Given the description of an element on the screen output the (x, y) to click on. 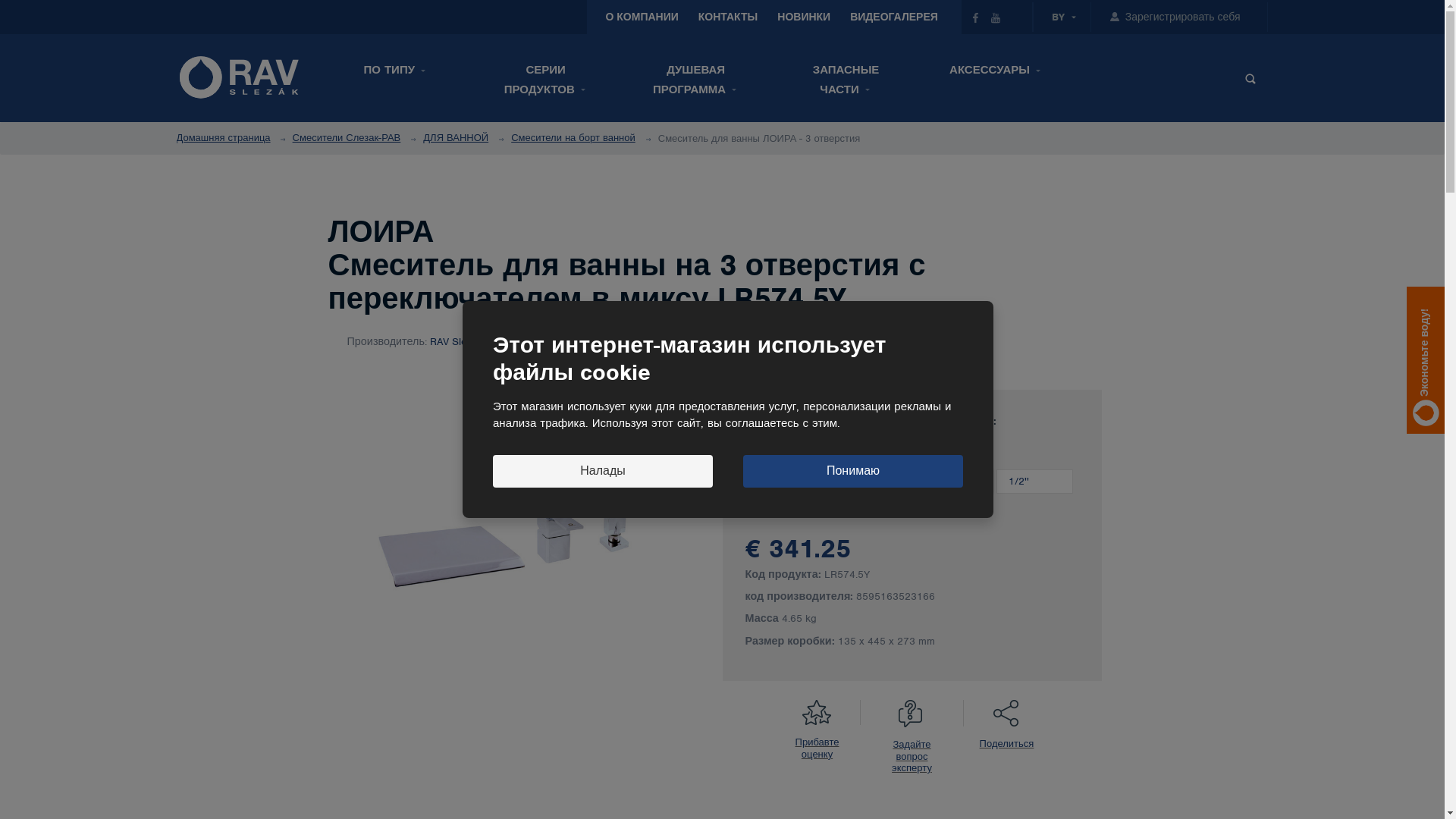
Youtube Element type: hover (994, 16)
BY Element type: text (1057, 16)
Facebook Element type: hover (975, 16)
